Given the description of an element on the screen output the (x, y) to click on. 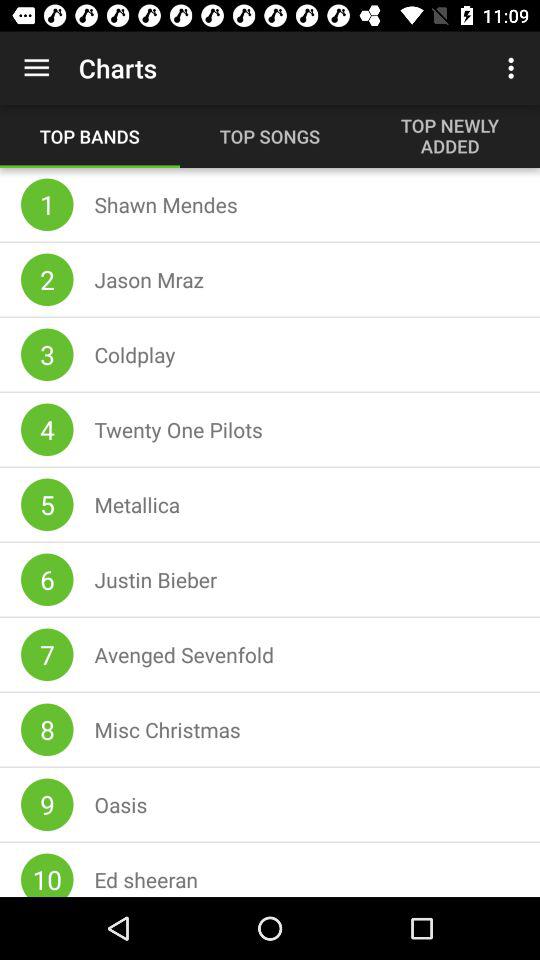
choose item next to charts item (513, 67)
